Given the description of an element on the screen output the (x, y) to click on. 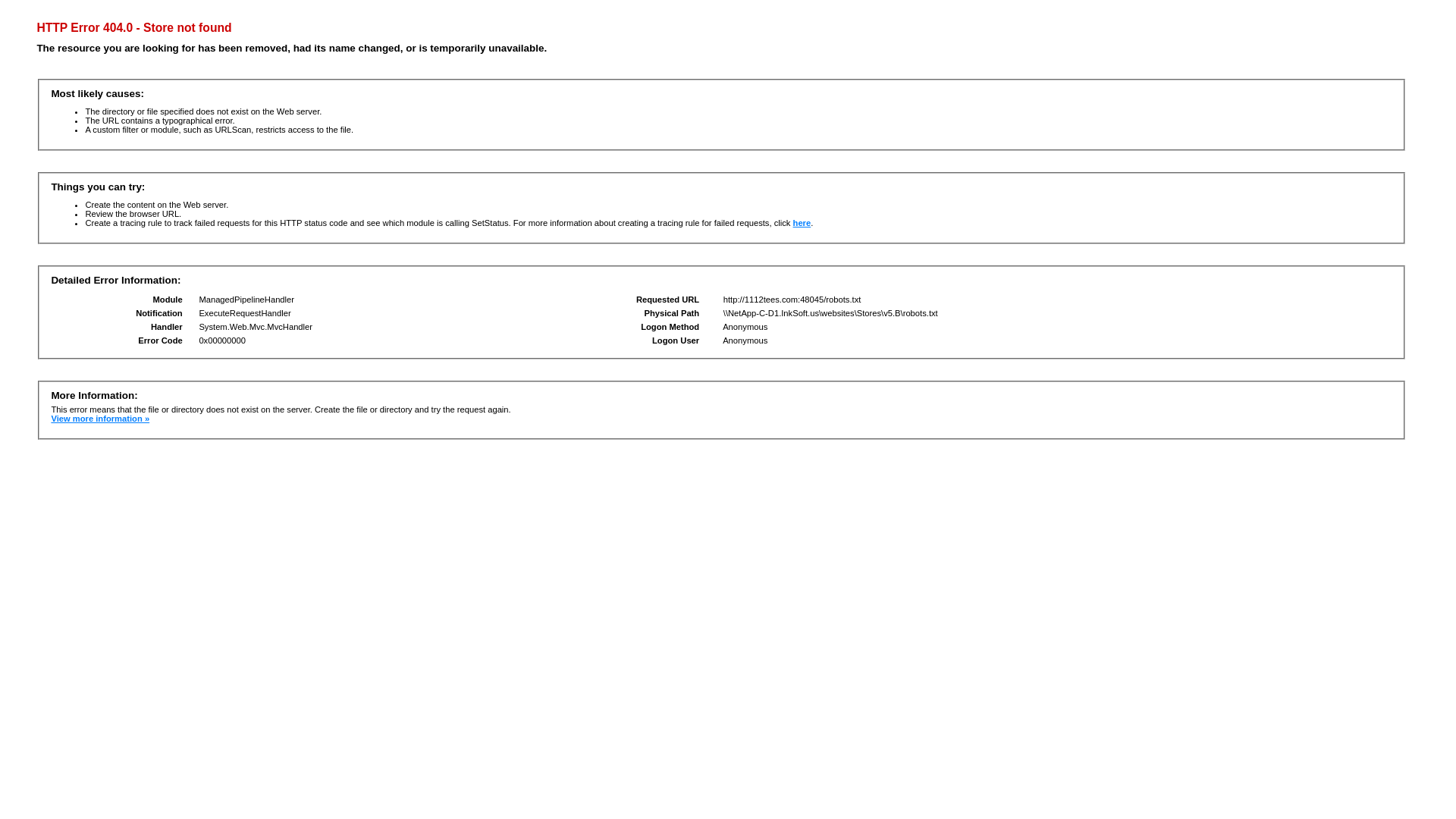
here Element type: text (802, 222)
